Given the description of an element on the screen output the (x, y) to click on. 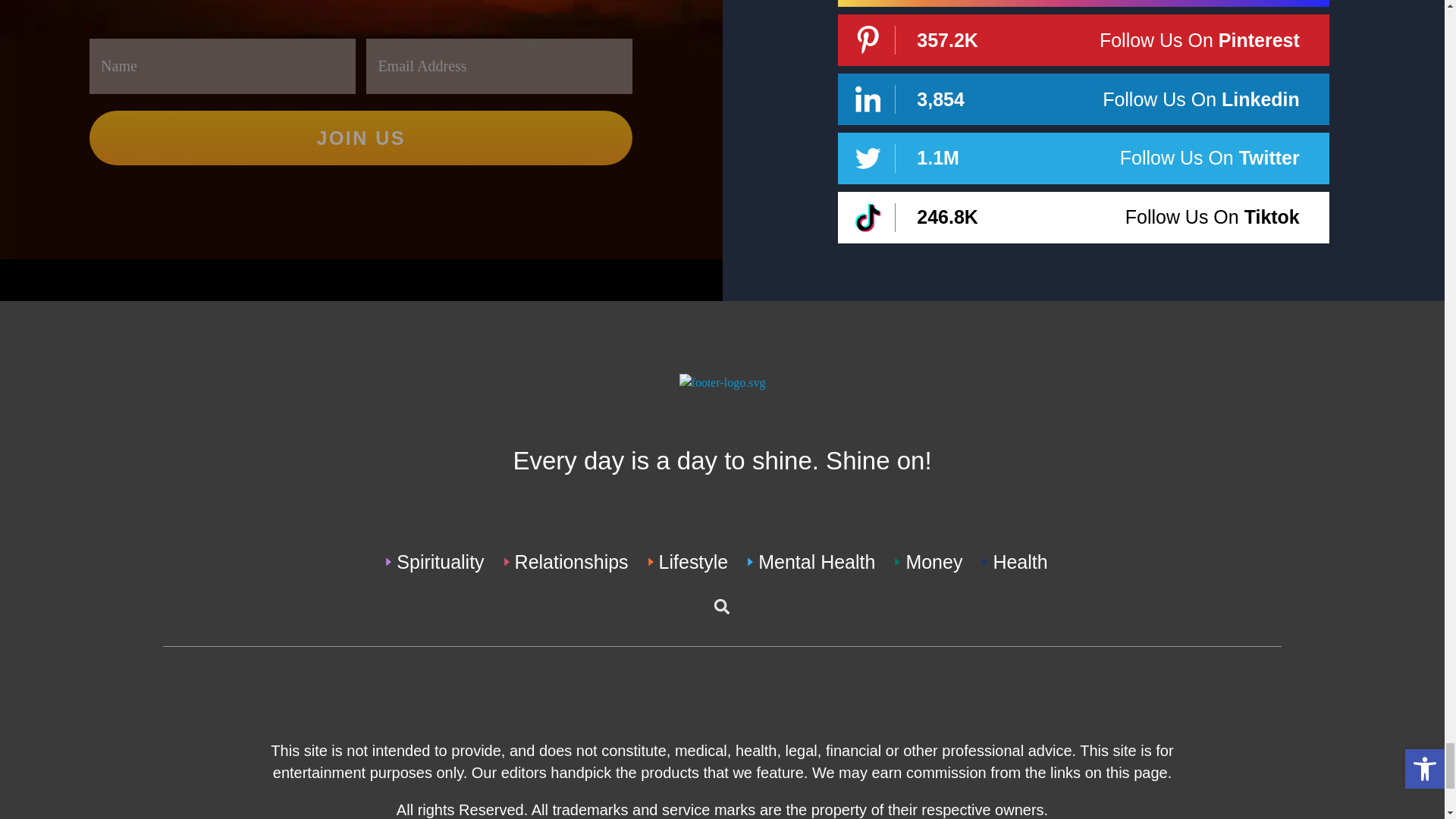
JOIN US (359, 137)
